Given the description of an element on the screen output the (x, y) to click on. 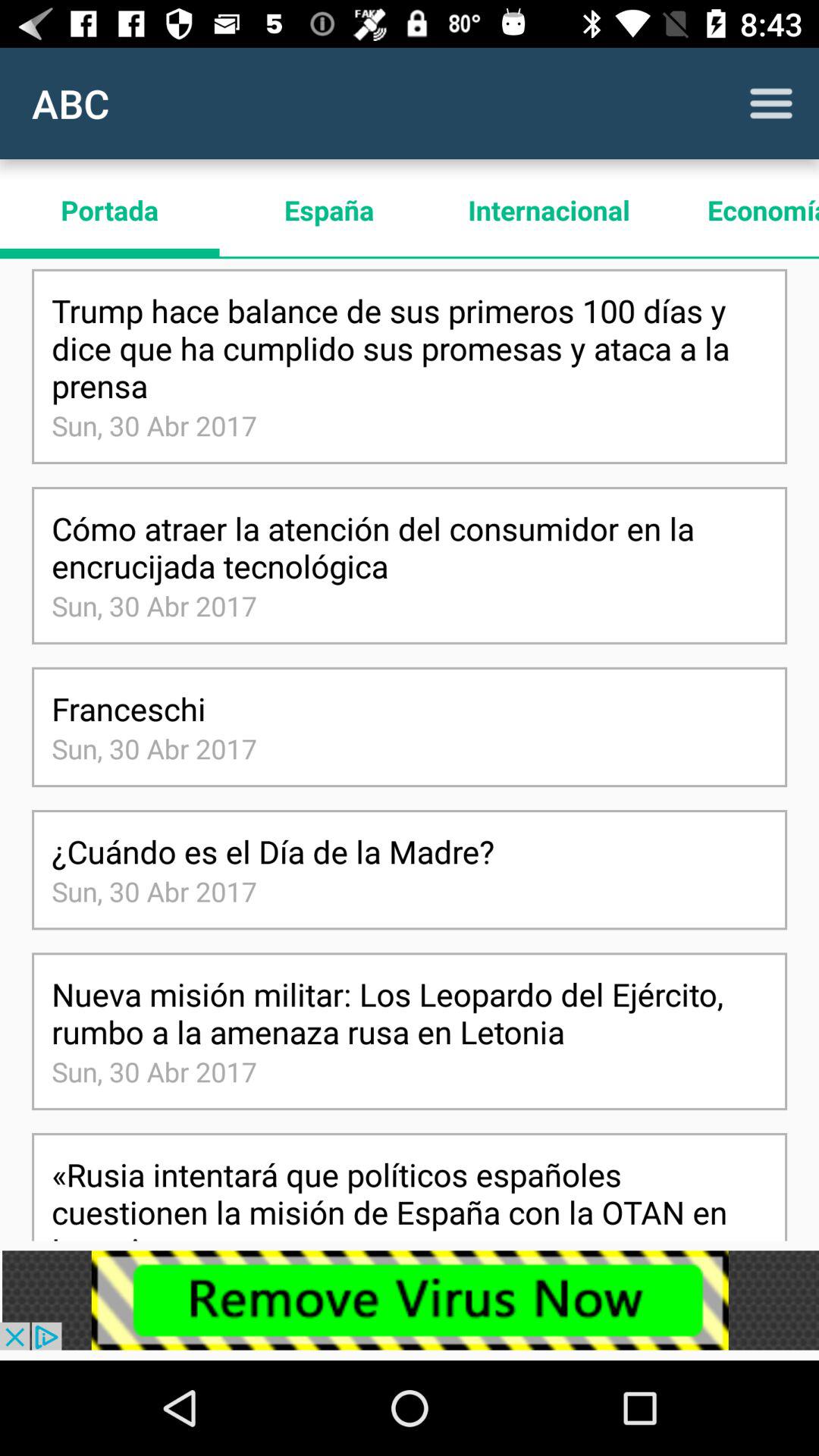
to view main menu (771, 103)
